Given the description of an element on the screen output the (x, y) to click on. 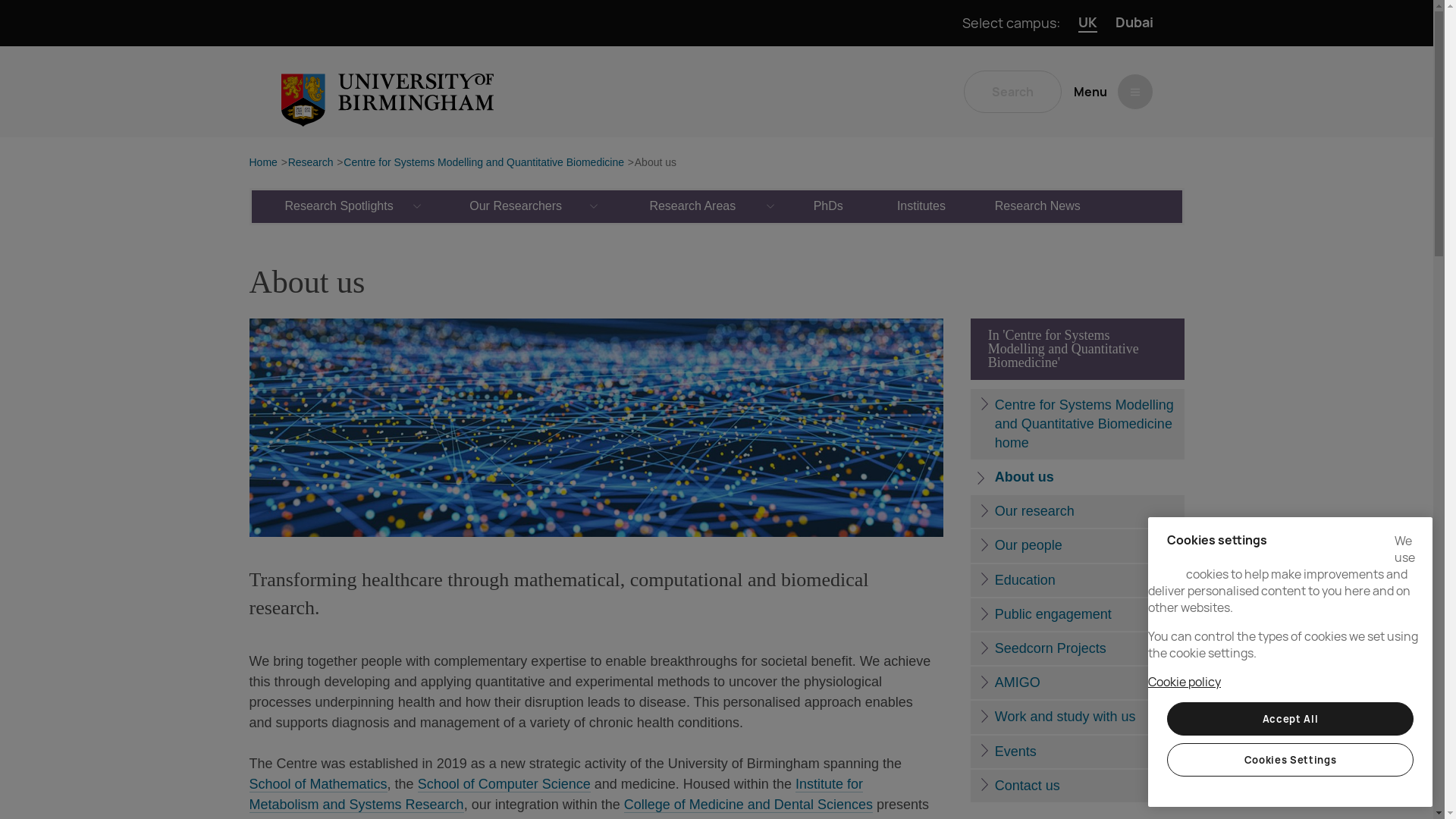
Search (1012, 91)
Dubai (1134, 23)
Our Researchers (516, 205)
Centre for Systems Modelling and Quantitative Biomedicine (483, 163)
Research Spotlights (339, 205)
UK (1087, 23)
Home (262, 163)
Research Areas (693, 205)
About us (655, 163)
Research (310, 163)
